Given the description of an element on the screen output the (x, y) to click on. 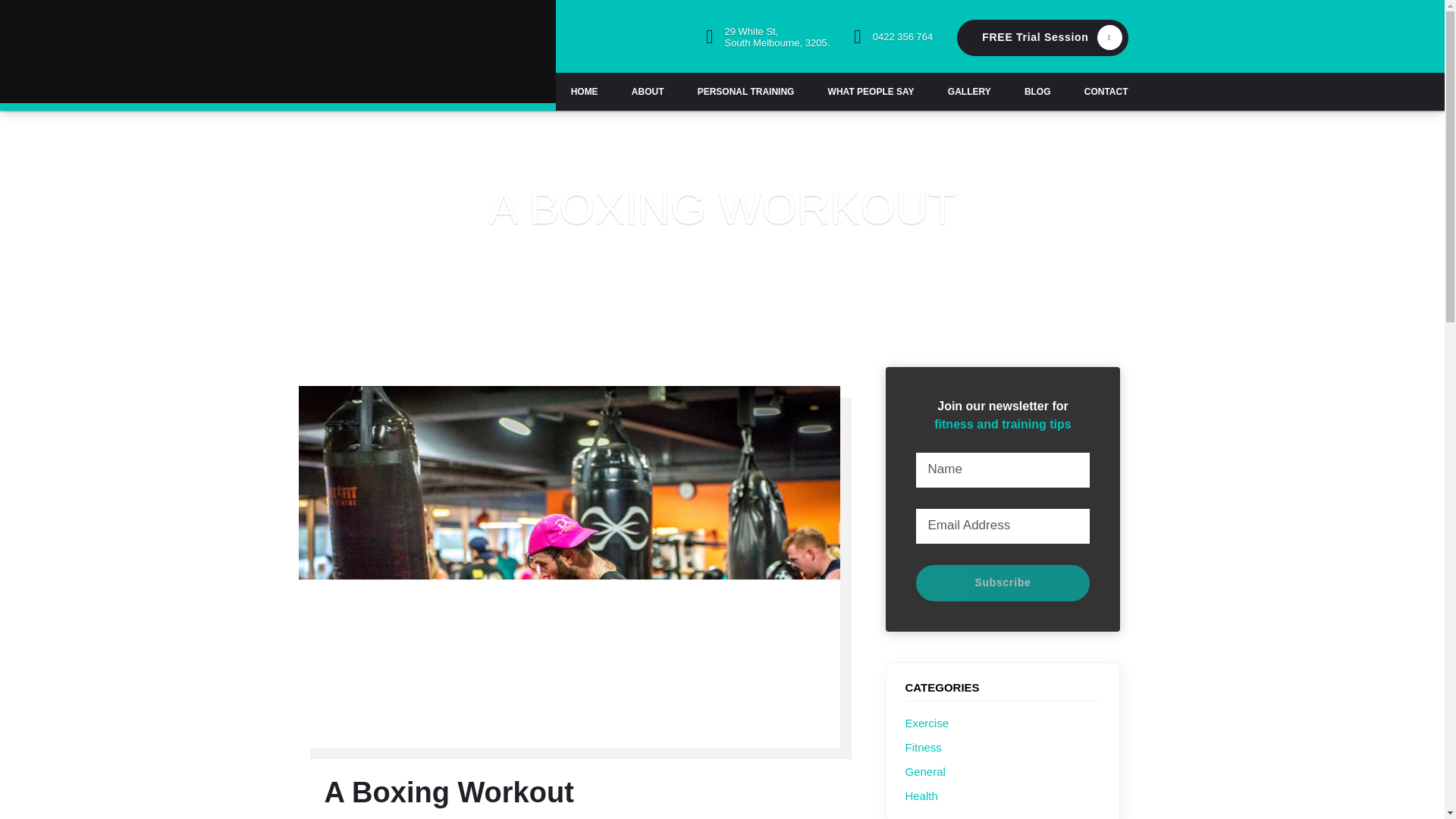
FREE Trial Session (1041, 37)
Subscribe (1002, 583)
Subscribe (767, 44)
WHAT PEOPLE SAY (1002, 583)
GALLERY (871, 91)
PERSONAL TRAINING (969, 91)
Health (745, 91)
BFIT Training (921, 794)
Exercise (364, 55)
0422 356 764 (927, 721)
General (893, 43)
CONTACT (924, 770)
Fitness (1106, 91)
